Given the description of an element on the screen output the (x, y) to click on. 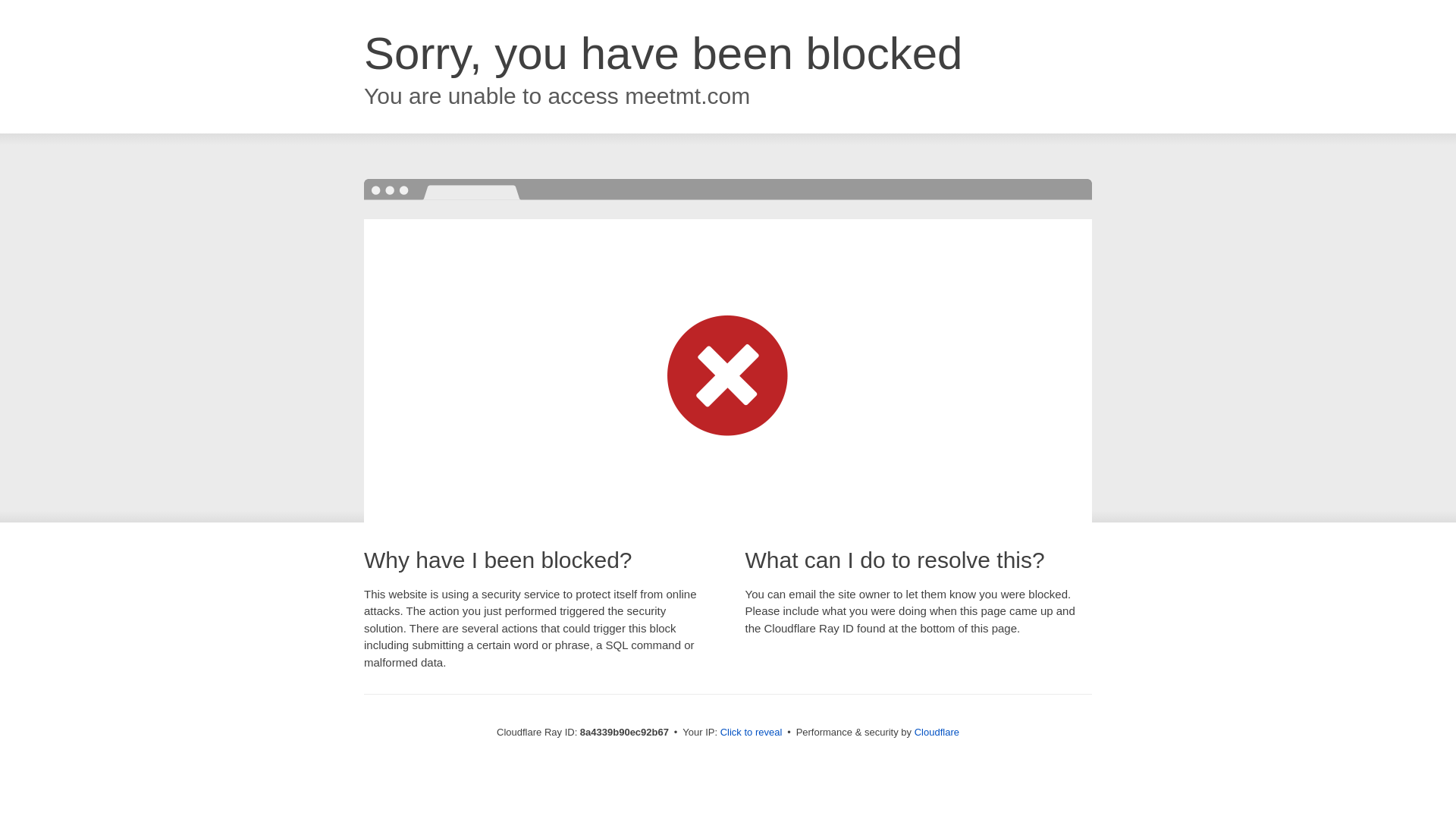
Cloudflare (936, 731)
Click to reveal (751, 732)
